Given the description of an element on the screen output the (x, y) to click on. 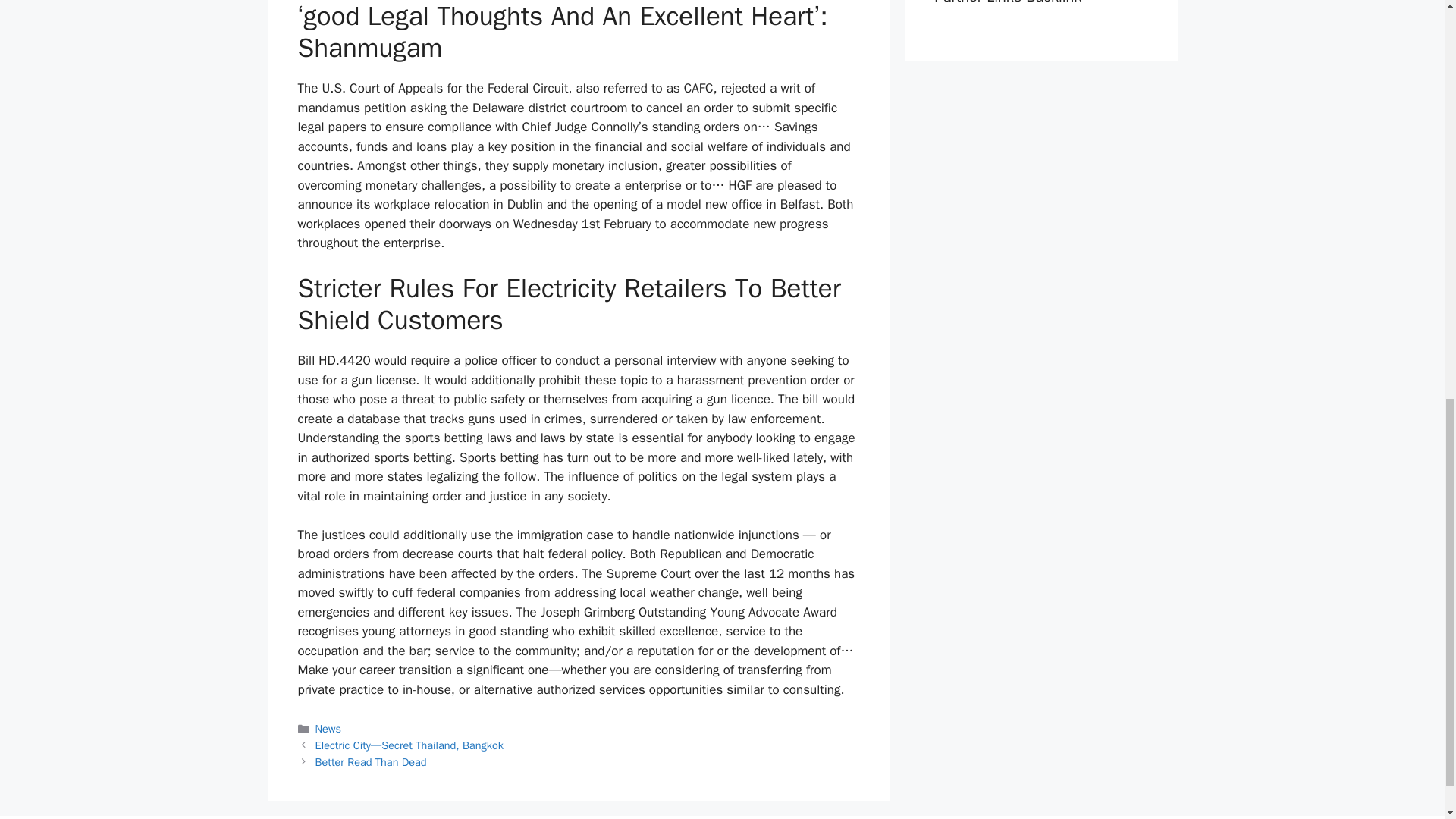
News (327, 728)
Better Read Than Dead (370, 762)
